Given the description of an element on the screen output the (x, y) to click on. 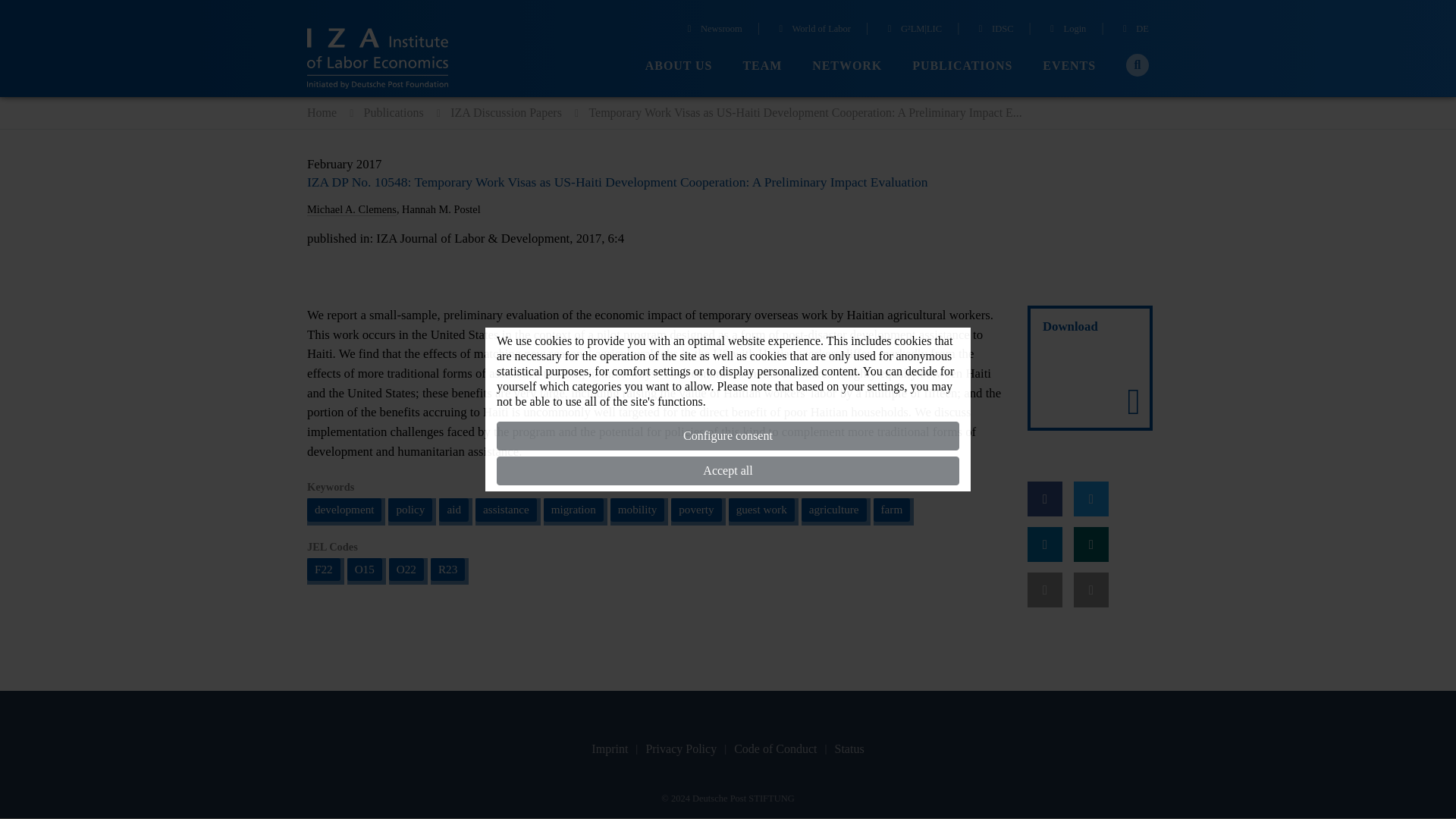
NETWORK (847, 66)
EVENTS (1069, 66)
Newsroom (712, 30)
World of Labor (812, 30)
Login (1066, 30)
TEAM (761, 66)
IDSC (993, 30)
PUBLICATIONS (961, 66)
ABOUT US (679, 66)
DE (1133, 30)
